Given the description of an element on the screen output the (x, y) to click on. 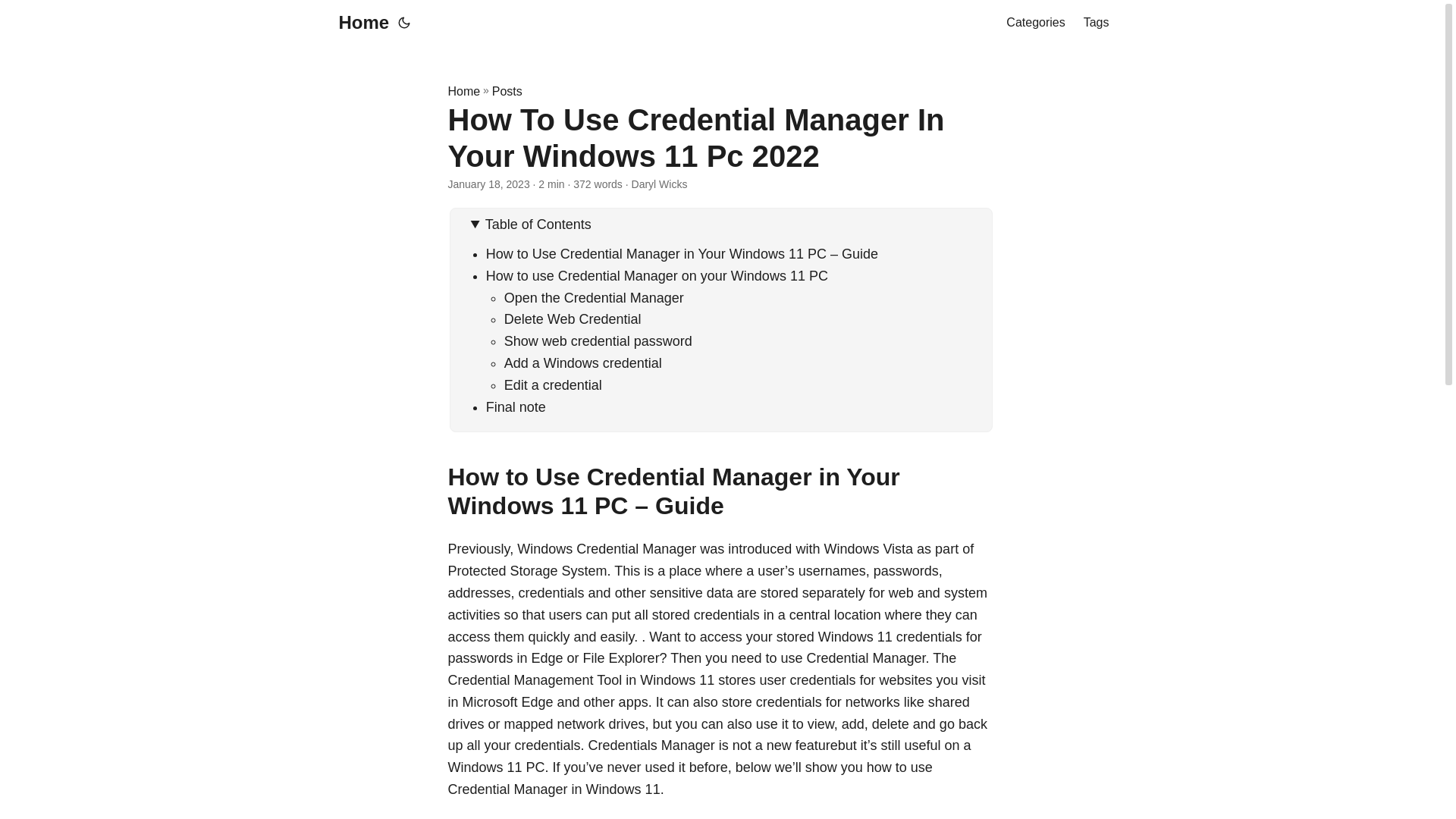
Add a Windows credential (582, 363)
Delete Web Credential (572, 319)
Show web credential password (598, 340)
Home (463, 91)
Edit a credential (552, 385)
Home (359, 22)
Final note (516, 406)
Categories (1035, 22)
Open the Credential Manager (593, 297)
How to use Credential Manager on your Windows 11 PC (657, 275)
